Given the description of an element on the screen output the (x, y) to click on. 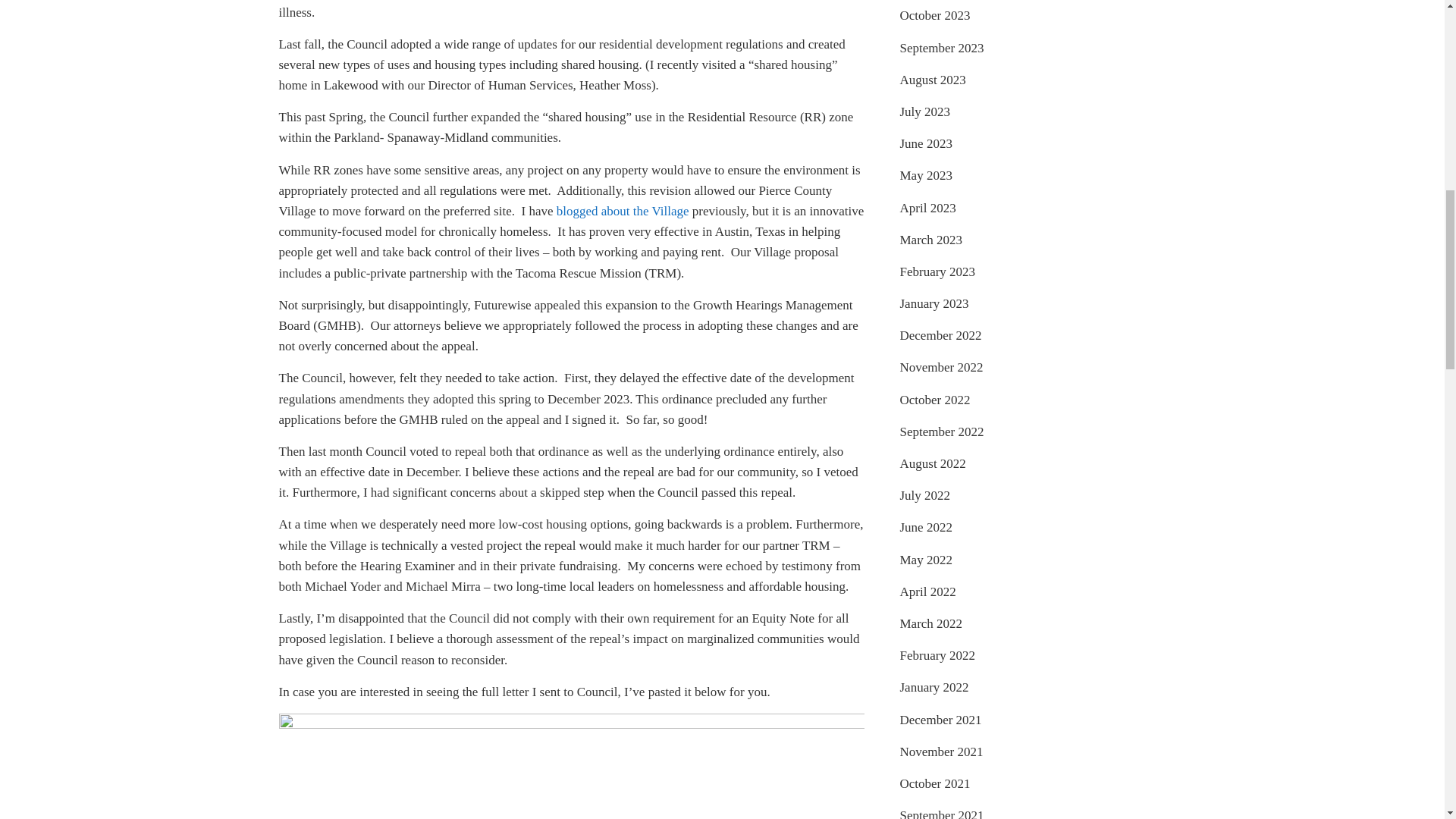
February 2023 (937, 271)
August 2022 (932, 463)
October 2023 (934, 15)
March 2023 (930, 239)
July 2022 (924, 495)
July 2023 (924, 111)
June 2022 (925, 527)
blogged about the Village (622, 210)
April 2023 (927, 206)
May 2023 (925, 175)
January 2023 (933, 303)
November 2022 (940, 367)
May 2022 (925, 559)
August 2023 (932, 79)
September 2022 (941, 431)
